Given the description of an element on the screen output the (x, y) to click on. 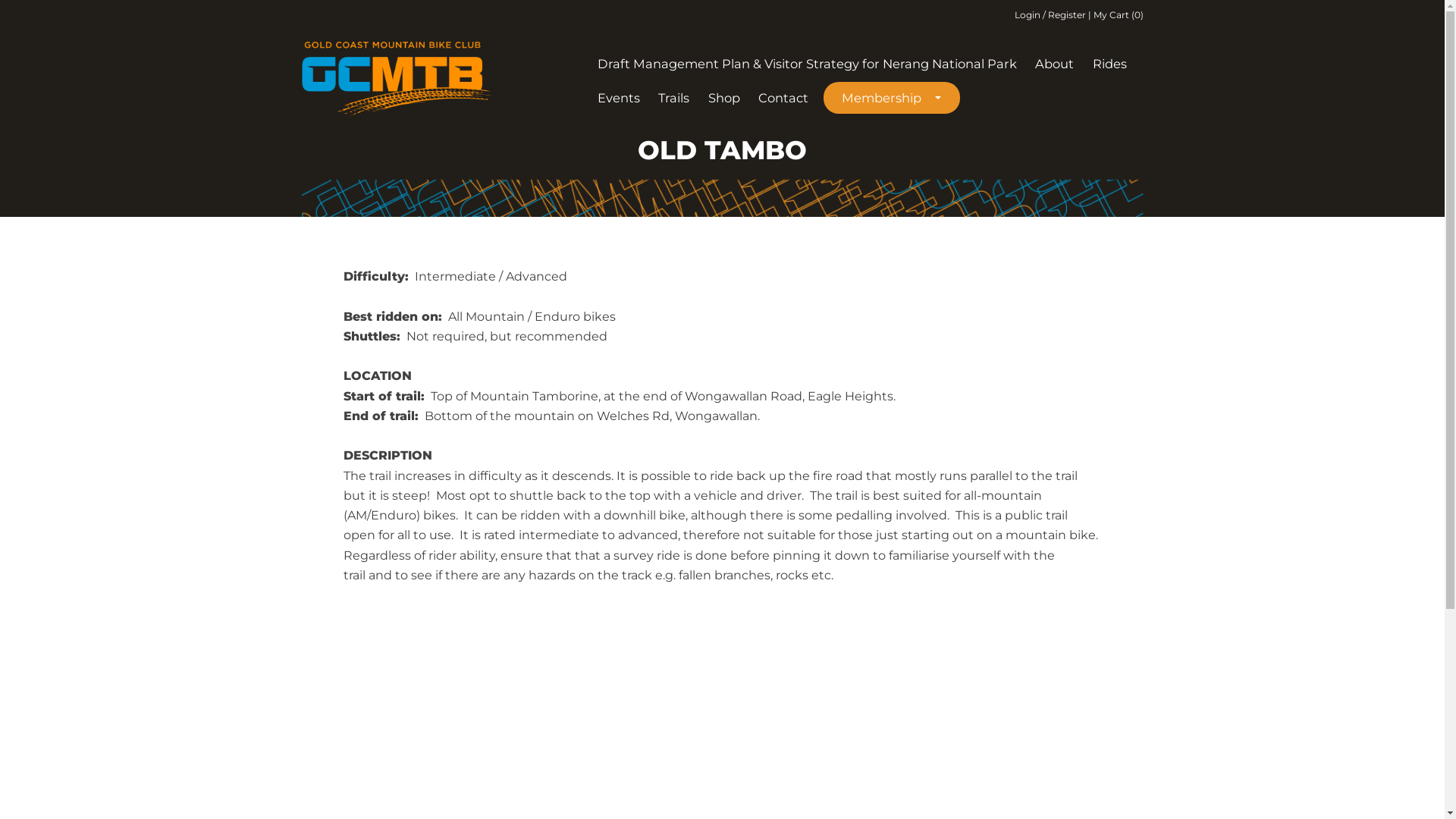
Trails Element type: text (673, 97)
Events Element type: text (618, 97)
Membership Element type: text (891, 97)
Shop Element type: text (724, 97)
Rides Element type: text (1109, 63)
Contact Element type: text (783, 97)
GOLD COAST MOUNTAIN BIKE CLUB Element type: text (491, 128)
About Element type: text (1054, 63)
My Cart (0) Element type: text (1118, 14)
Login / Register Element type: text (1051, 14)
